Given the description of an element on the screen output the (x, y) to click on. 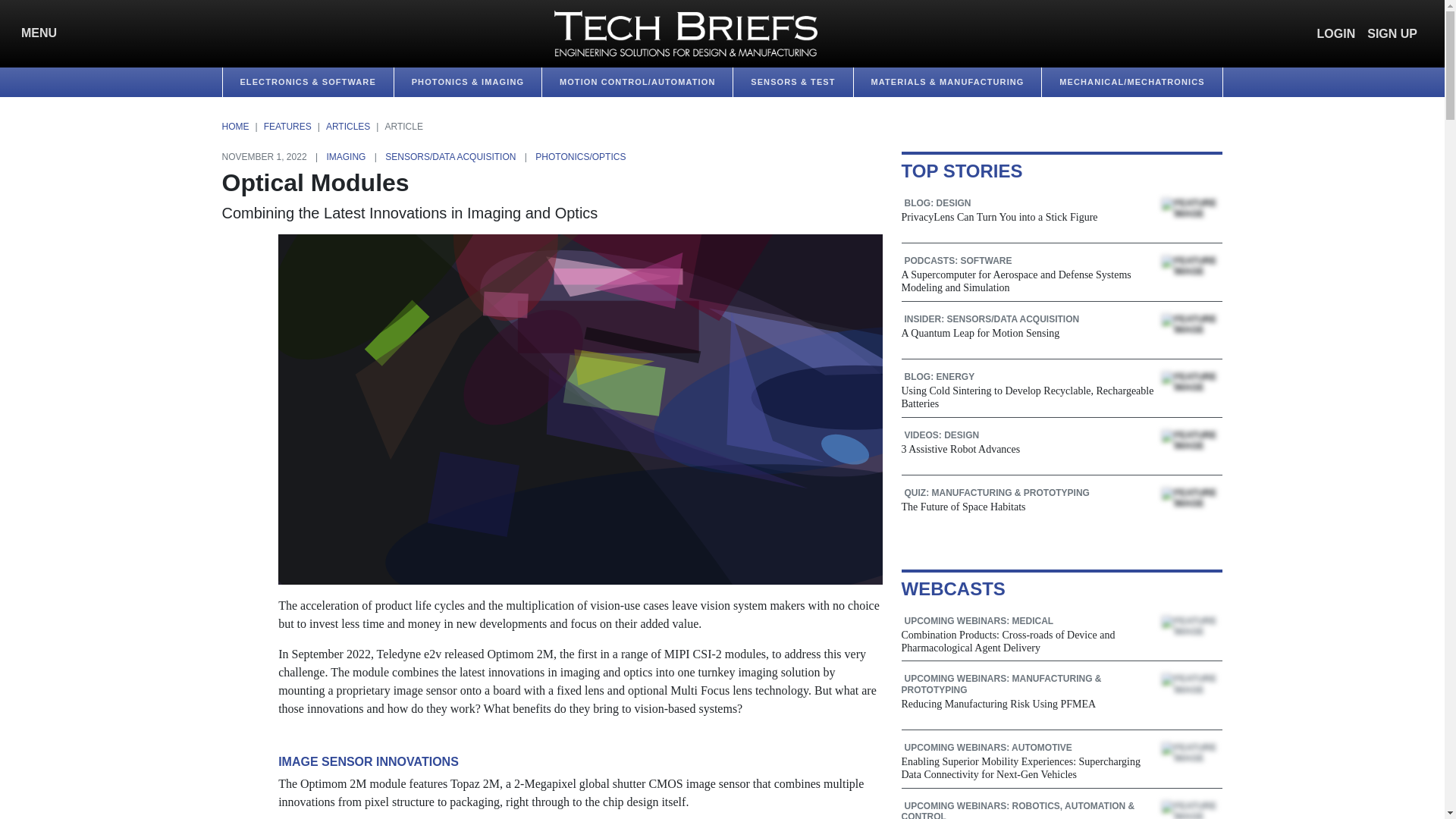
SIGN UP (1392, 32)
LOGIN (1336, 32)
MENU (35, 33)
